Given the description of an element on the screen output the (x, y) to click on. 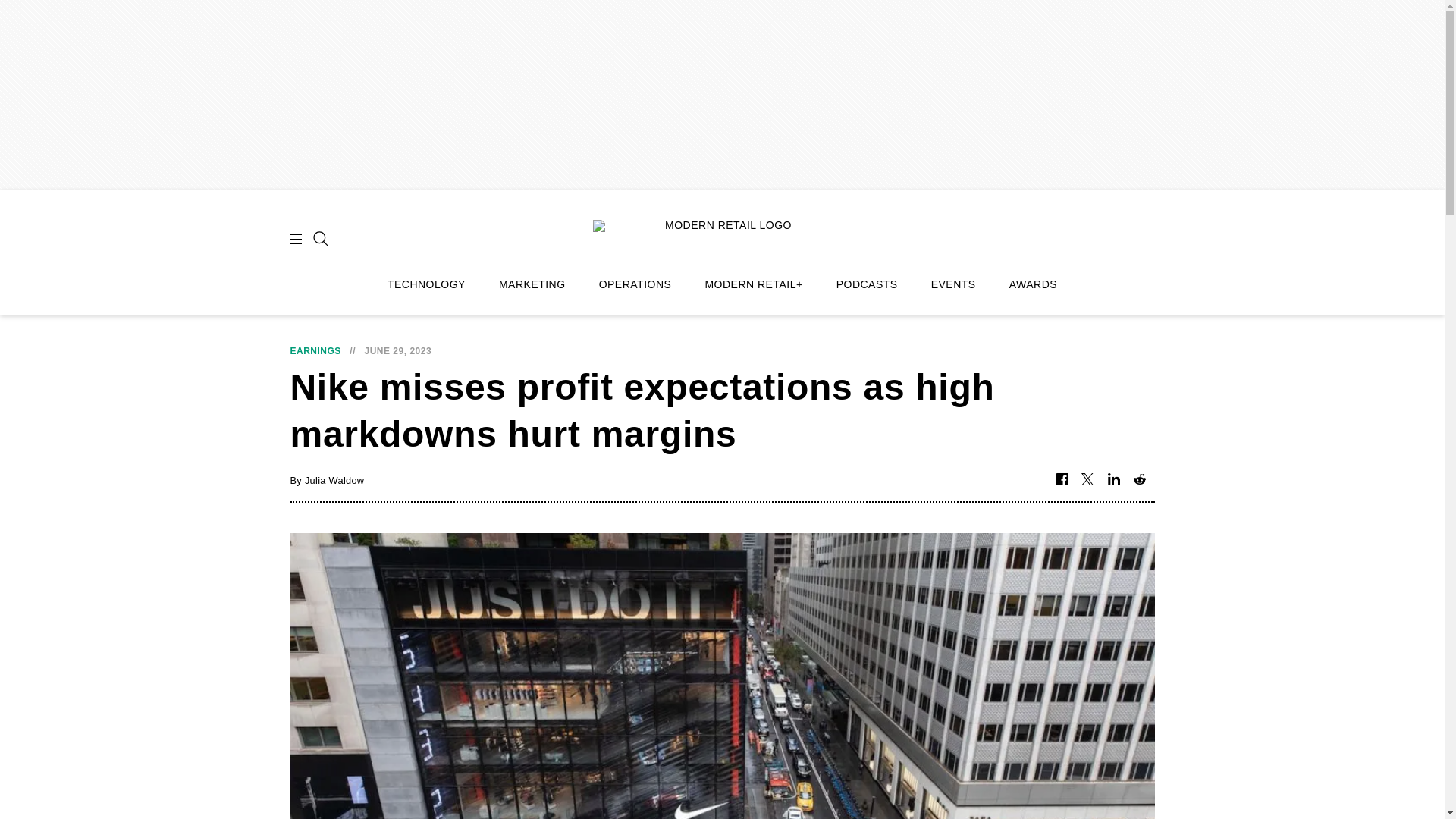
Share on Reddit (1139, 480)
PODCASTS (866, 284)
Share on LinkedIn (1113, 480)
Share on Twitter (1087, 480)
TECHNOLOGY (426, 284)
OPERATIONS (634, 284)
EVENTS (953, 284)
Modern Retail home (722, 236)
MARKETING (532, 284)
Share on Facebook (1061, 480)
AWARDS (1033, 284)
